Given the description of an element on the screen output the (x, y) to click on. 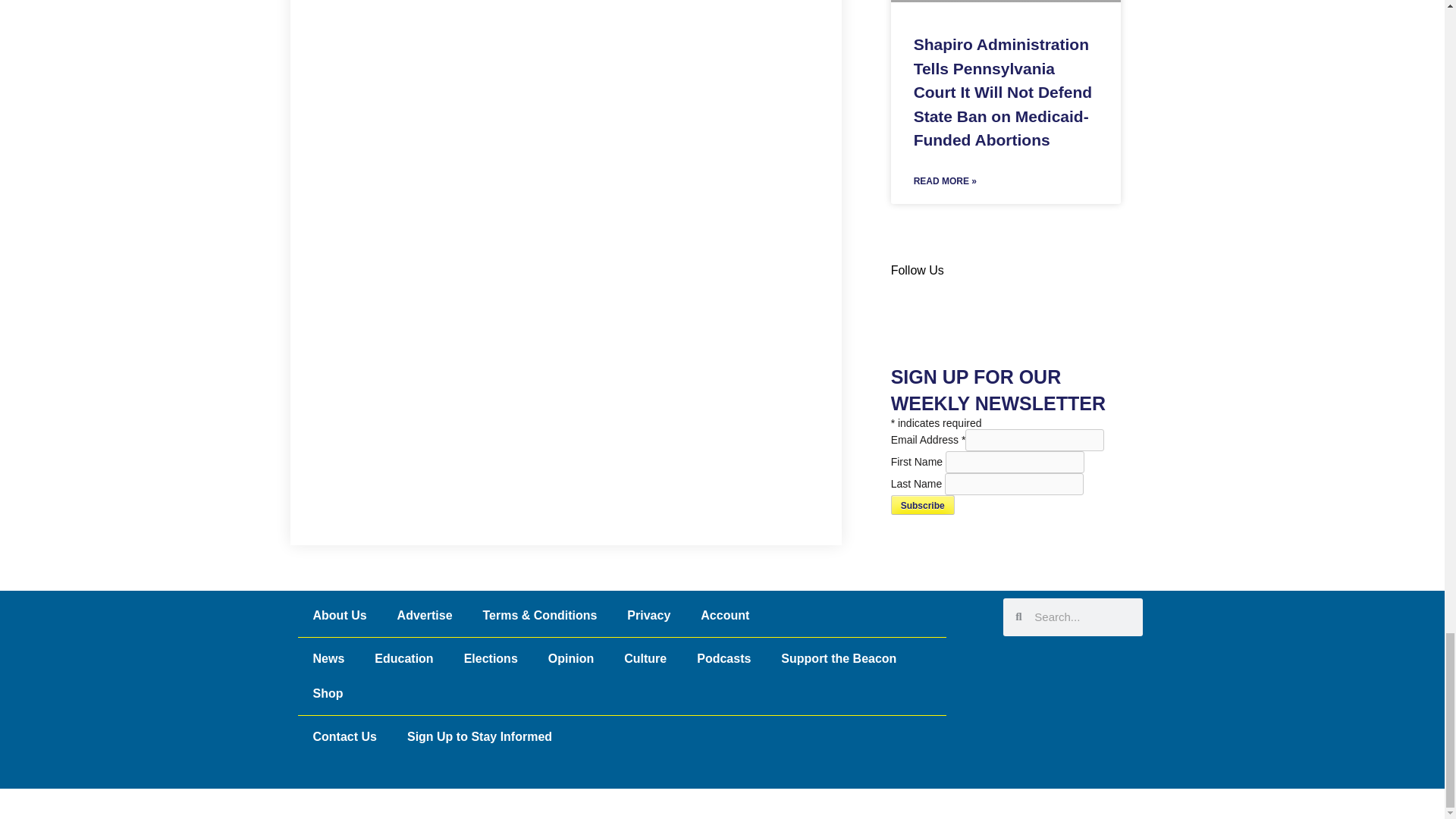
Subscribe (923, 505)
